Given the description of an element on the screen output the (x, y) to click on. 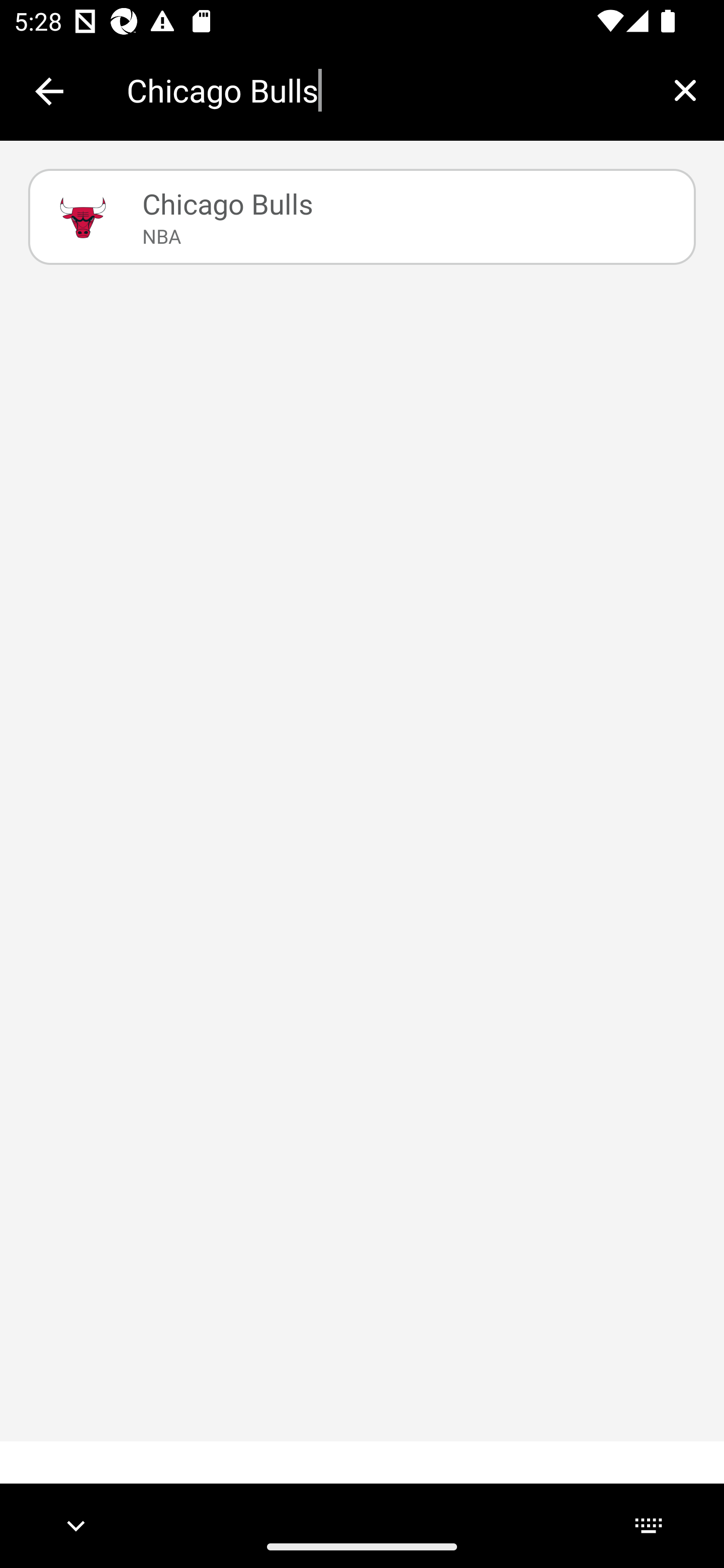
Collapse (49, 91)
Clear query (685, 89)
Chicago Bulls (386, 90)
Chicago Bulls NBA (361, 216)
